Given the description of an element on the screen output the (x, y) to click on. 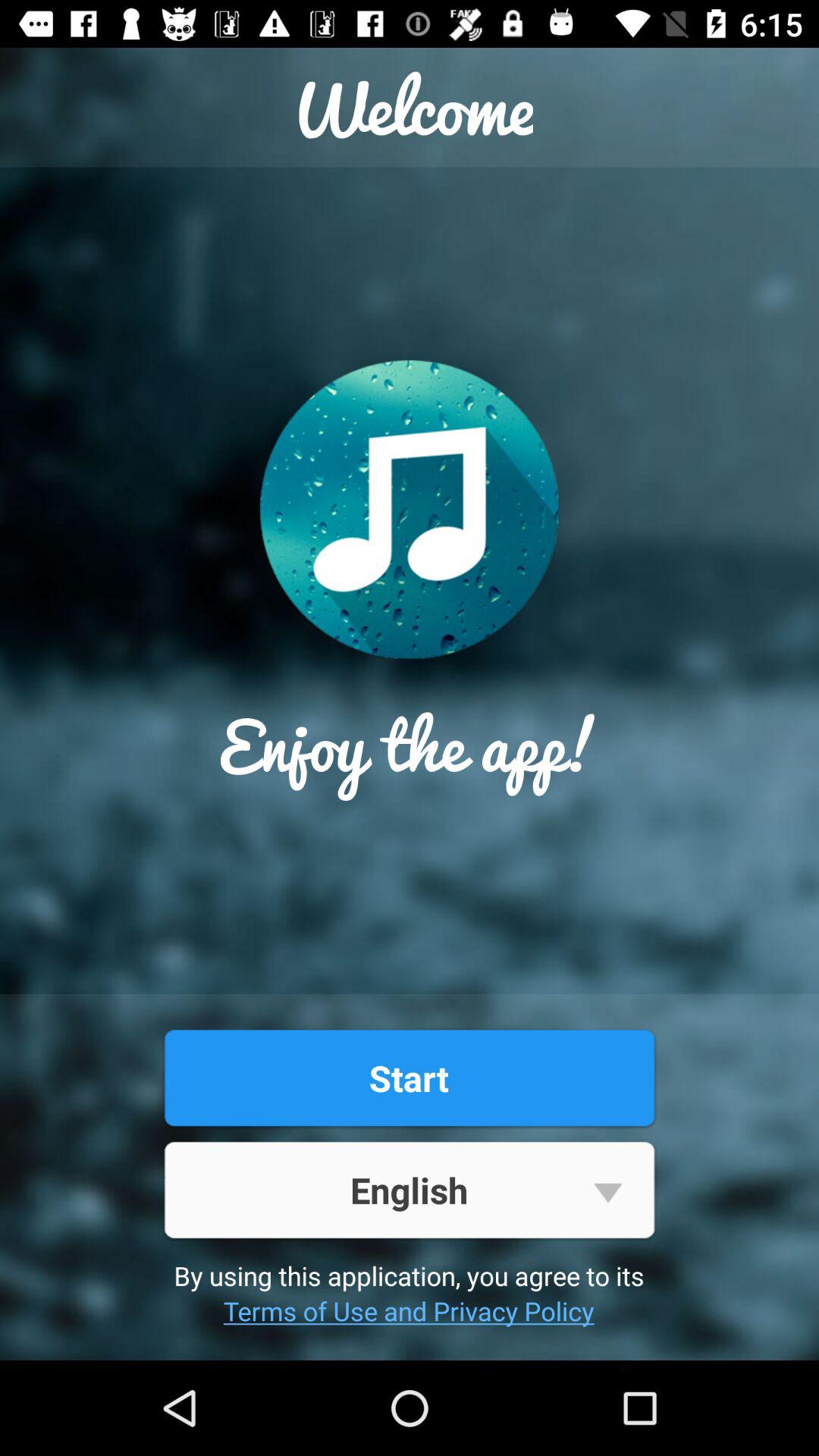
jump to the english (409, 1190)
